Given the description of an element on the screen output the (x, y) to click on. 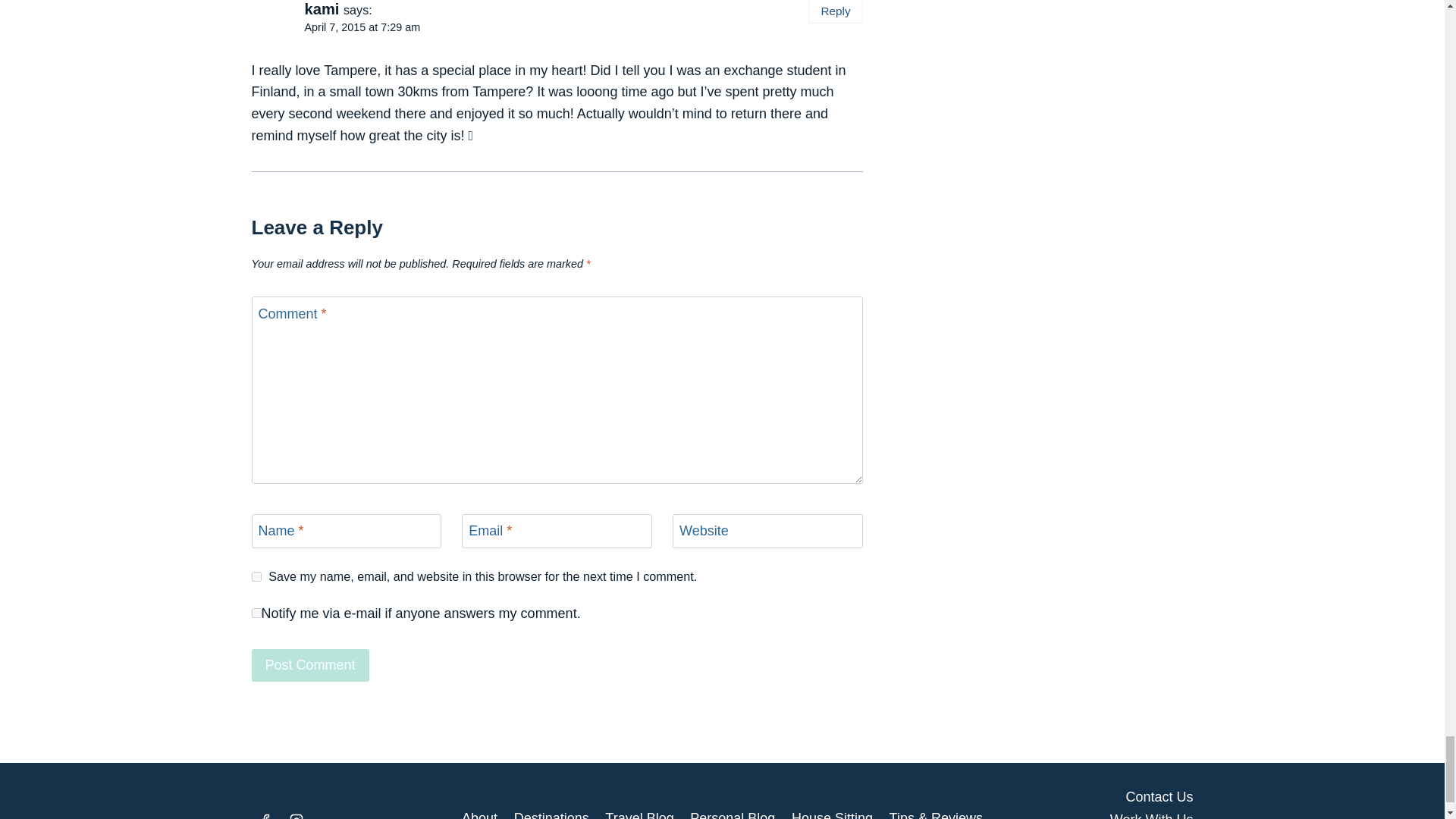
Post Comment (310, 665)
on (256, 613)
yes (256, 576)
